Given the description of an element on the screen output the (x, y) to click on. 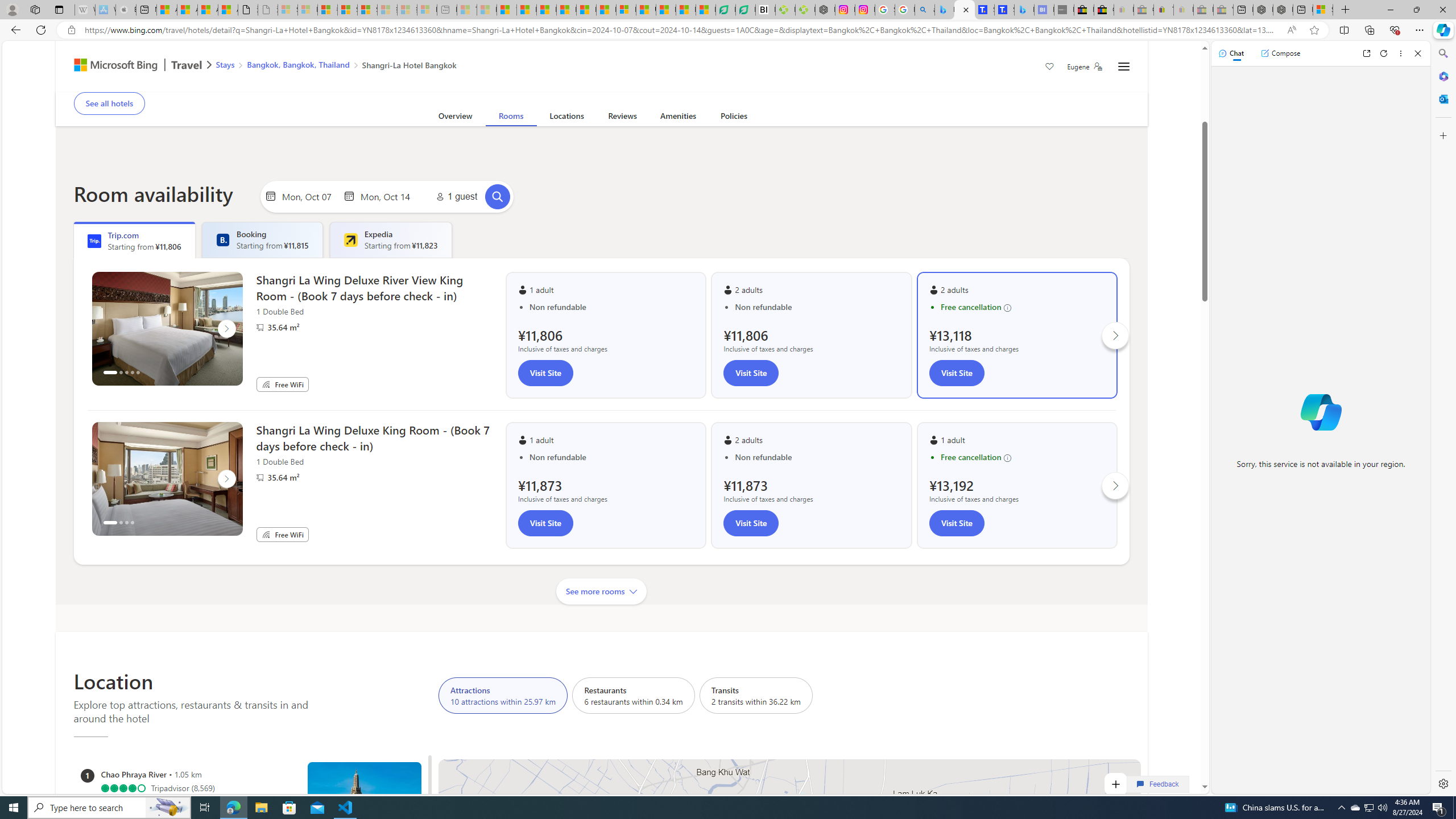
Shangri-La Bangkok, Hotel reviews and Room rates (1004, 9)
Airport transportation (497, 84)
Microsoft Bing Travel (130, 65)
Microsoft account | Account Checkup - Sleeping (427, 9)
Class: msft-bing-logo msft-bing-logo-desktop (112, 64)
Overview (454, 118)
2,234 Booking.com reviews (157, 72)
Payments Terms of Use | eBay.com - Sleeping (1183, 9)
Nordace - Nordace Edin Collection (825, 9)
Descarga Driver Updater (804, 9)
Press Room - eBay Inc. - Sleeping (1203, 9)
Swimming pool (588, 84)
See more rooms (601, 591)
